Given the description of an element on the screen output the (x, y) to click on. 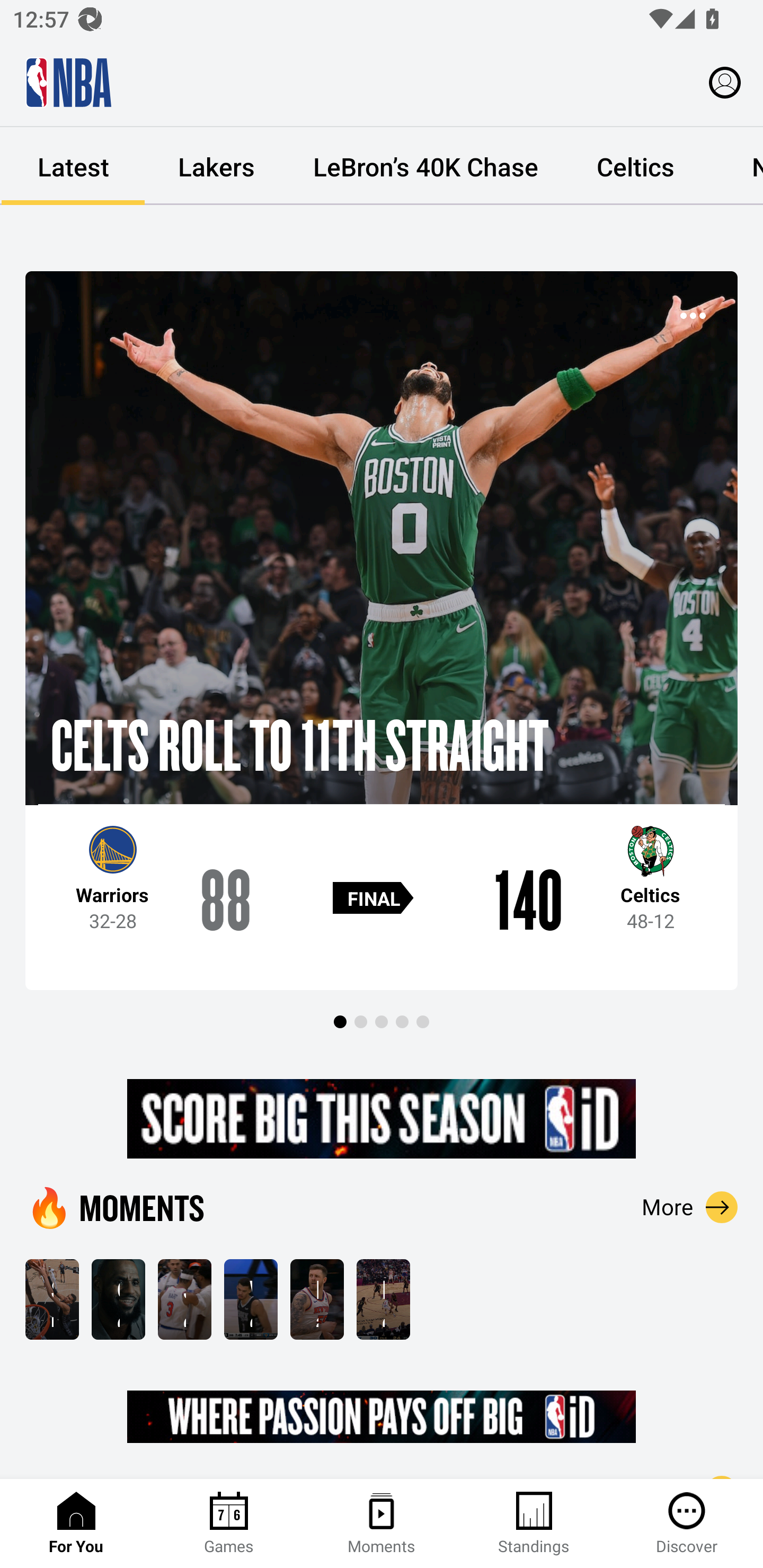
Profile (724, 81)
Lakers (215, 166)
LeBron’s 40K Chase (425, 166)
Celtics (634, 166)
More (689, 1207)
Sunday's Top Plays In 30 Seconds ⏱ (51, 1299)
Hartenstein Drops The Hammer 🔨 (317, 1299)
Games (228, 1523)
Moments (381, 1523)
Standings (533, 1523)
Discover (686, 1523)
